Given the description of an element on the screen output the (x, y) to click on. 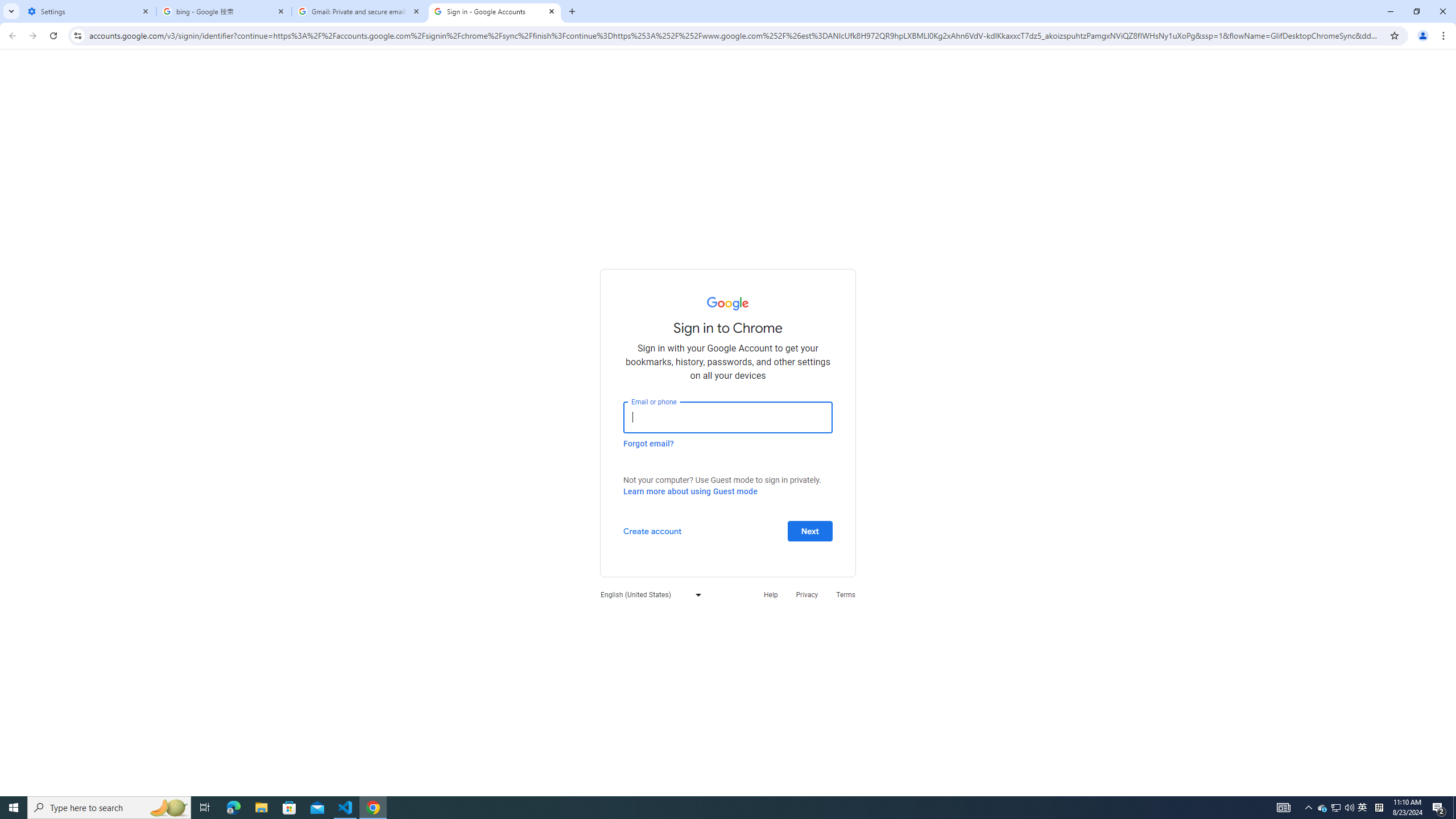
English (United States) (647, 594)
Sign in - Google Accounts (494, 11)
Forgot email? (648, 443)
